Given the description of an element on the screen output the (x, y) to click on. 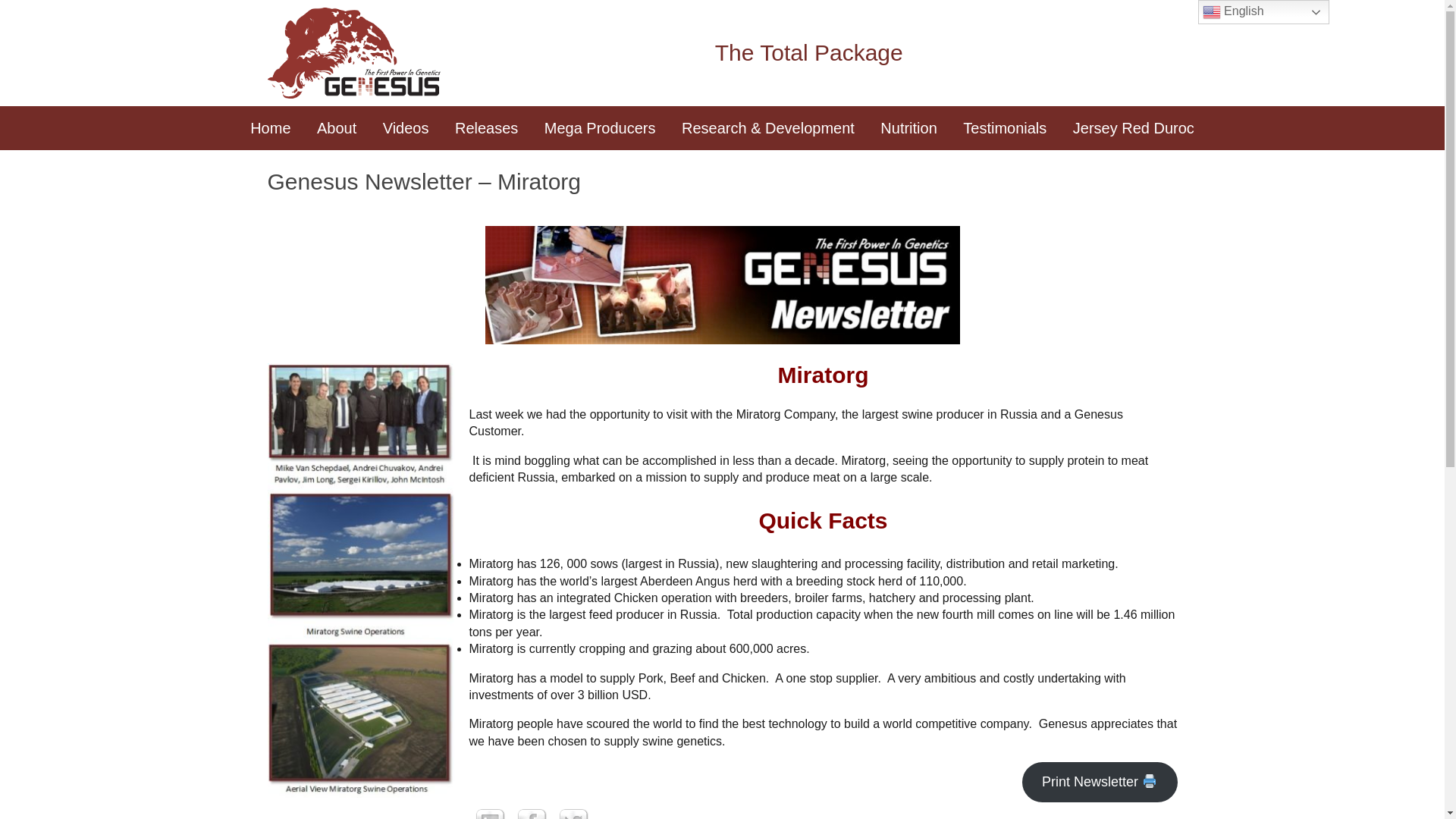
About (336, 127)
Print Newsletter (1099, 782)
Releases (486, 127)
Jersey Red Duroc (1133, 127)
Videos (406, 127)
Mega Producers (599, 127)
Testimonials (1005, 127)
Home (269, 127)
Twitter (572, 810)
Nutrition (908, 127)
LinkedIn (489, 810)
Facebook (532, 810)
